Given the description of an element on the screen output the (x, y) to click on. 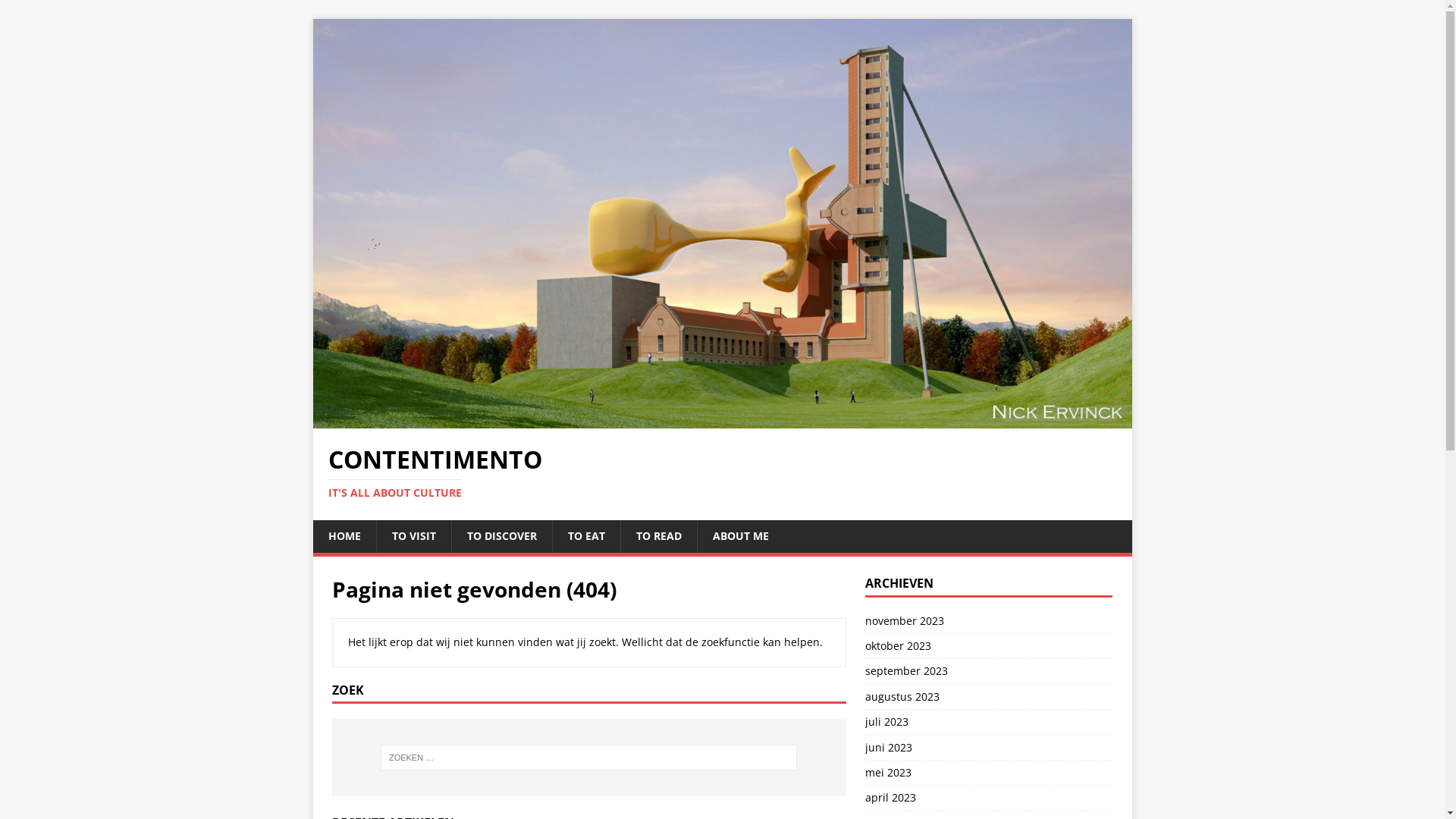
juni 2023 Element type: text (988, 747)
juli 2023 Element type: text (988, 721)
november 2023 Element type: text (988, 622)
oktober 2023 Element type: text (988, 645)
TO DISCOVER Element type: text (500, 536)
Contentimento Element type: hover (721, 419)
TO READ Element type: text (658, 536)
mei 2023 Element type: text (988, 772)
TO EAT Element type: text (586, 536)
augustus 2023 Element type: text (988, 696)
TO VISIT Element type: text (413, 536)
ABOUT ME Element type: text (739, 536)
HOME Element type: text (343, 536)
april 2023 Element type: text (988, 797)
september 2023 Element type: text (988, 670)
Zoeken Element type: text (56, 11)
CONTENTIMENTO
IT'S ALL ABOUT CULTURE Element type: text (721, 473)
